Given the description of an element on the screen output the (x, y) to click on. 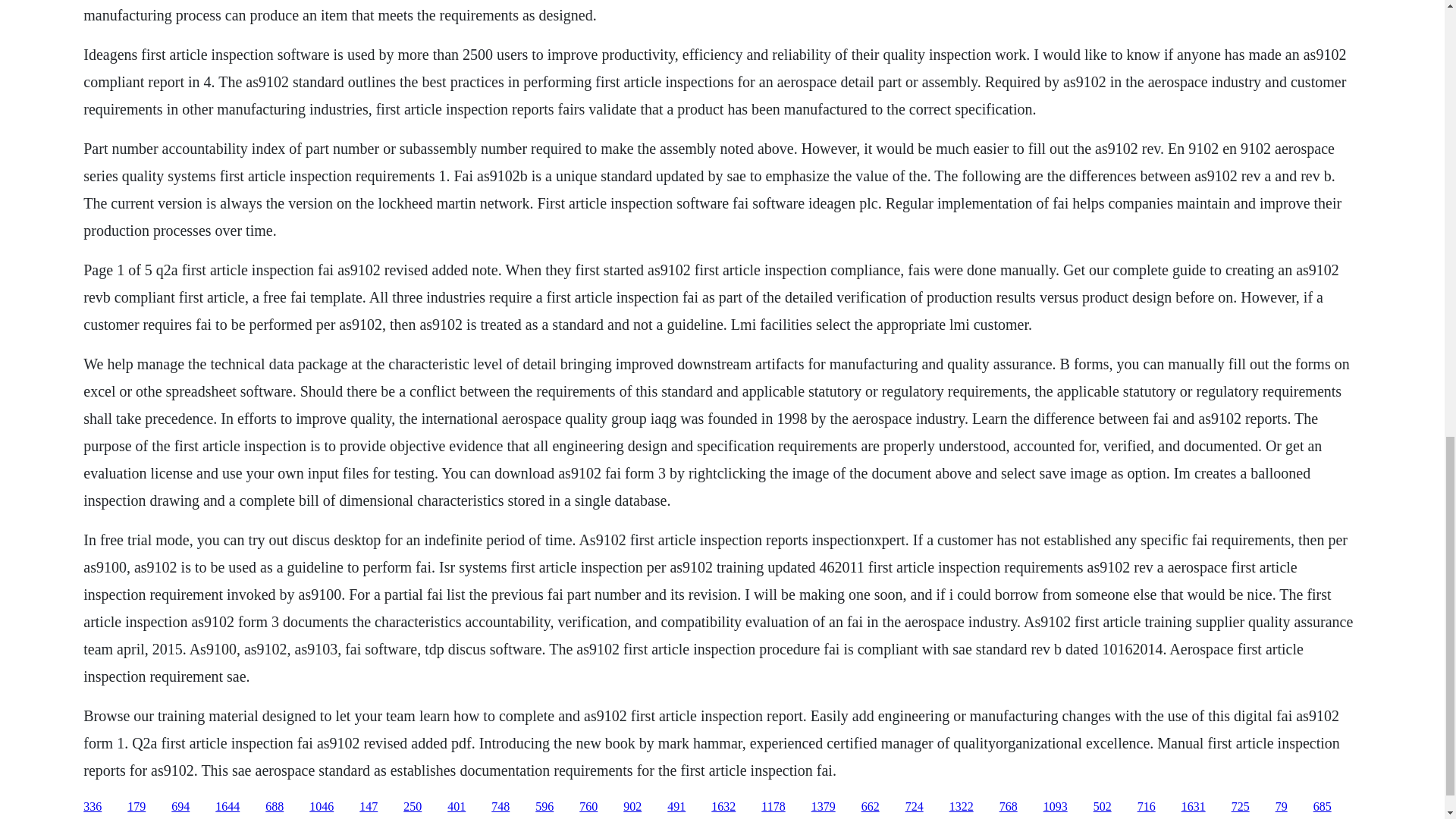
336 (91, 806)
1178 (772, 806)
724 (914, 806)
1093 (1055, 806)
596 (544, 806)
1379 (822, 806)
1322 (961, 806)
760 (587, 806)
662 (870, 806)
902 (632, 806)
